Given the description of an element on the screen output the (x, y) to click on. 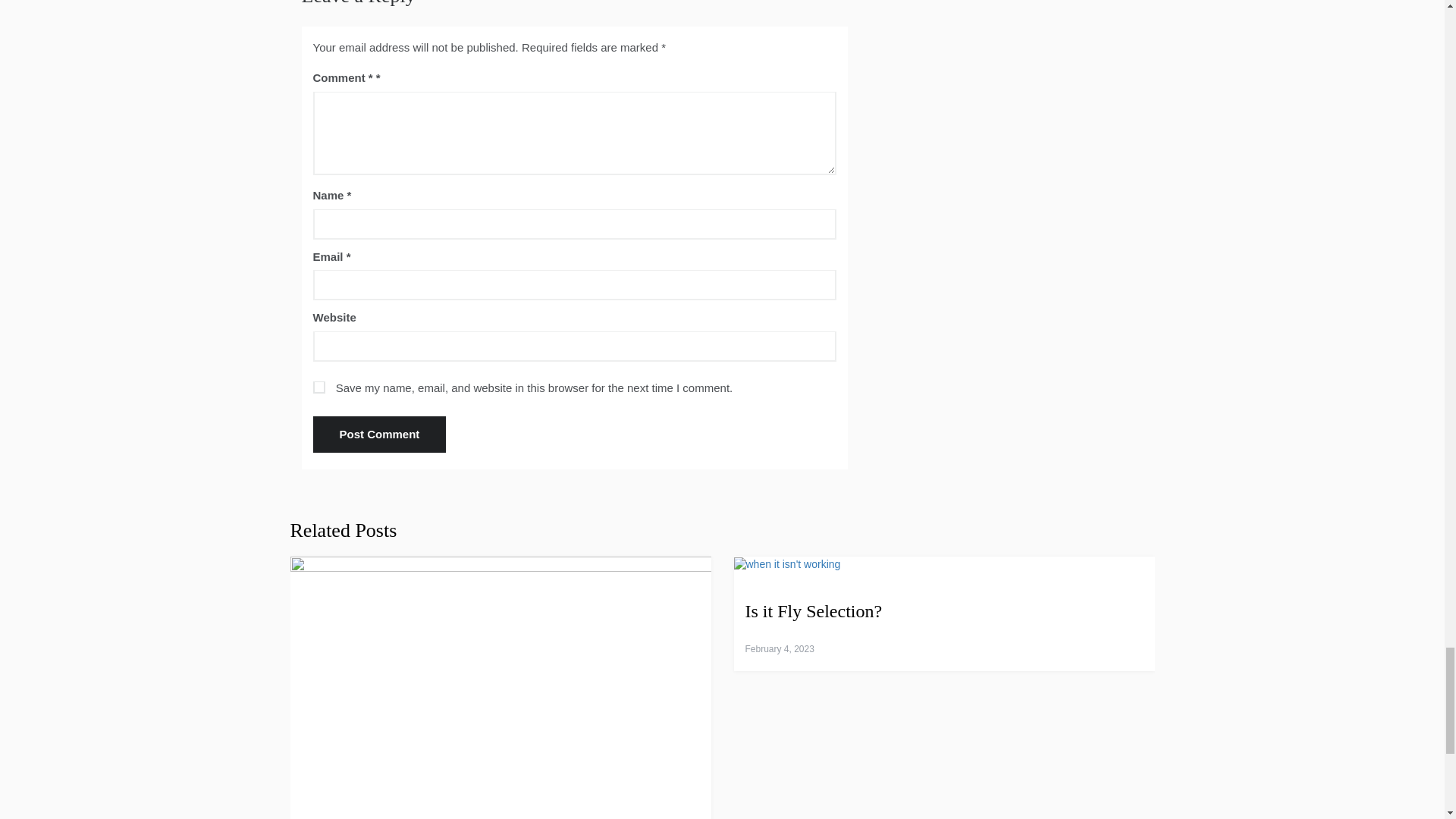
Post Comment (379, 434)
yes (318, 387)
